Given the description of an element on the screen output the (x, y) to click on. 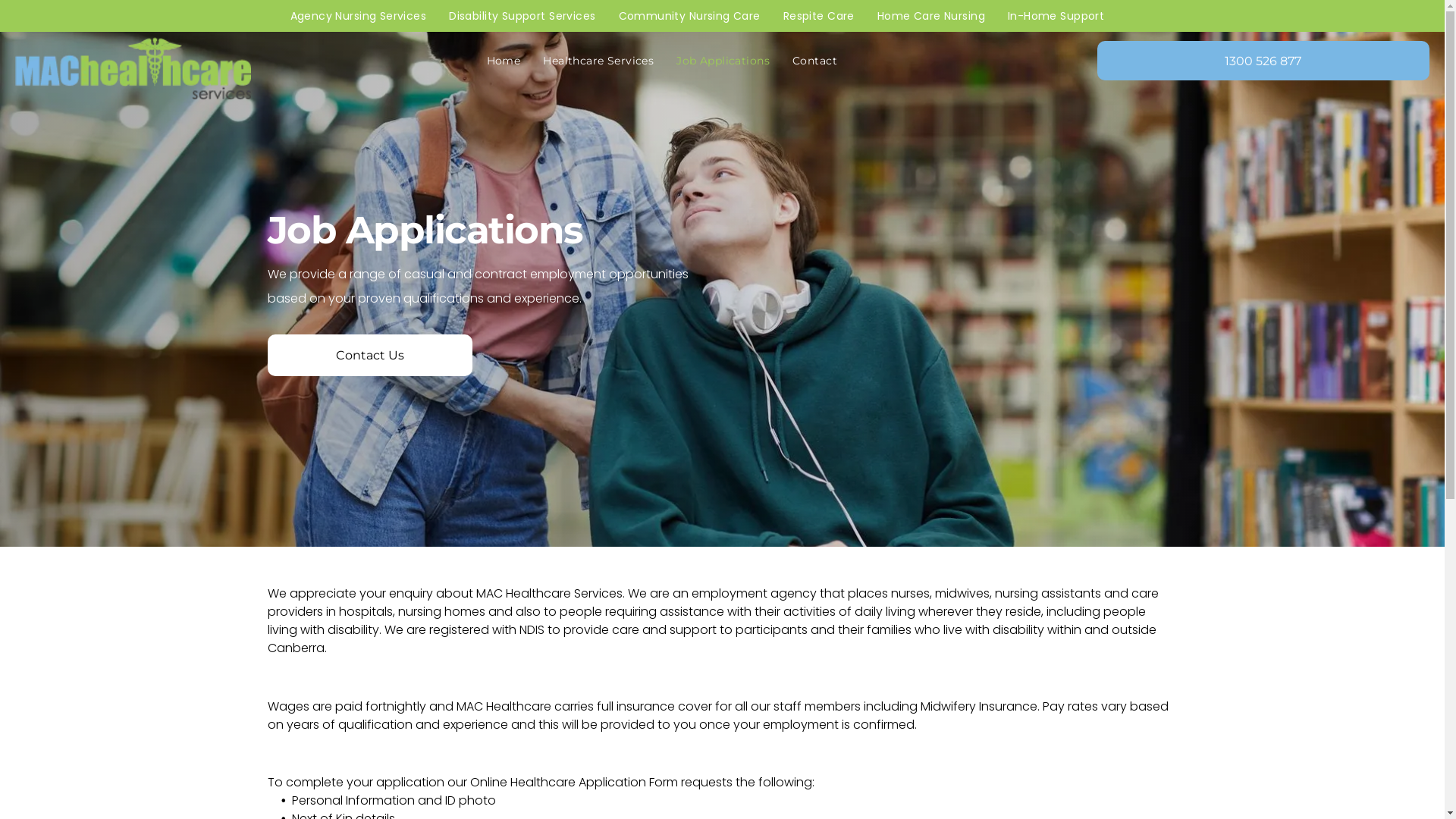
Home Element type: text (503, 60)
Contact Element type: text (814, 60)
1300 526 877 Element type: text (1263, 60)
Job Applications Element type: text (723, 60)
Respite Care Element type: text (818, 15)
Healthcare Services Element type: text (598, 60)
Contact Us Element type: text (368, 354)
In-Home Support Element type: text (1055, 15)
Community Nursing Care Element type: text (689, 15)
Agency Nursing Services Element type: text (358, 15)
Disability Support Services Element type: text (521, 15)
Home Care Nursing Element type: text (931, 15)
